Given the description of an element on the screen output the (x, y) to click on. 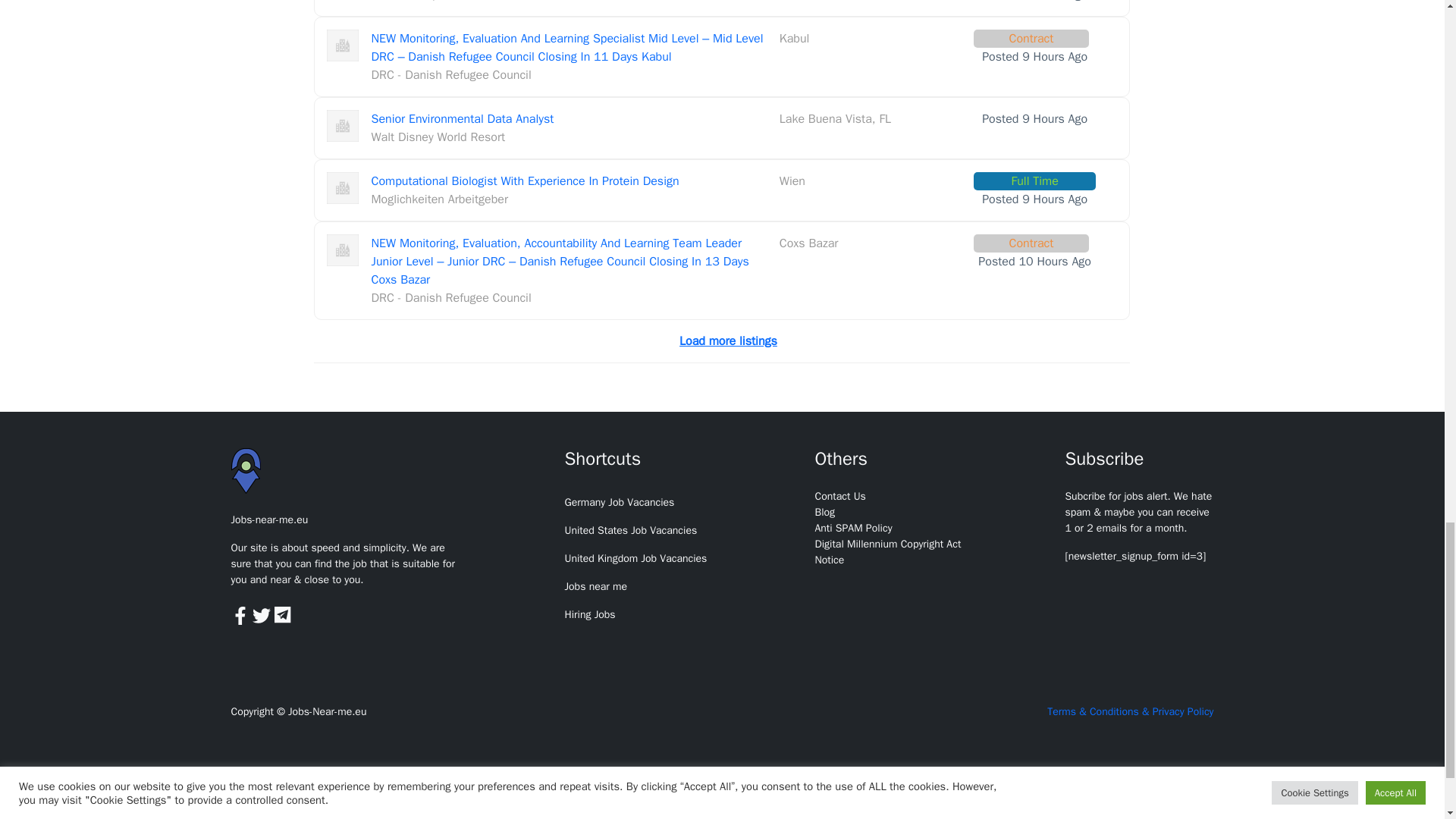
Facebook (240, 614)
Twitter (263, 614)
Telegram (283, 614)
